Given the description of an element on the screen output the (x, y) to click on. 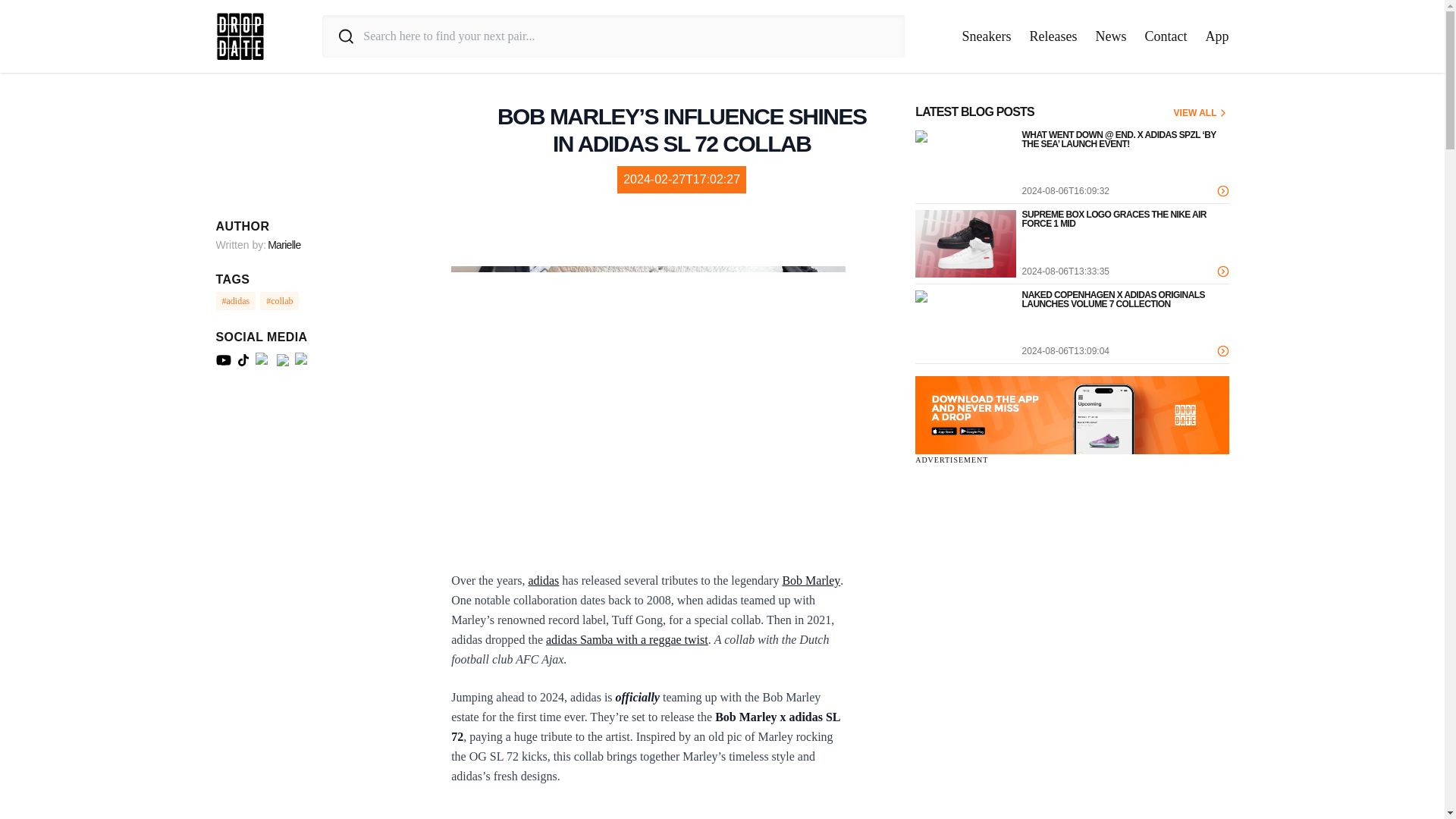
App (1216, 36)
VIEW ALL (1200, 112)
adidas (543, 580)
News (1109, 36)
Releases (1053, 36)
Sneakers (986, 36)
Bob Marley (810, 580)
adidas Samba with a reggae twist (626, 639)
